Given the description of an element on the screen output the (x, y) to click on. 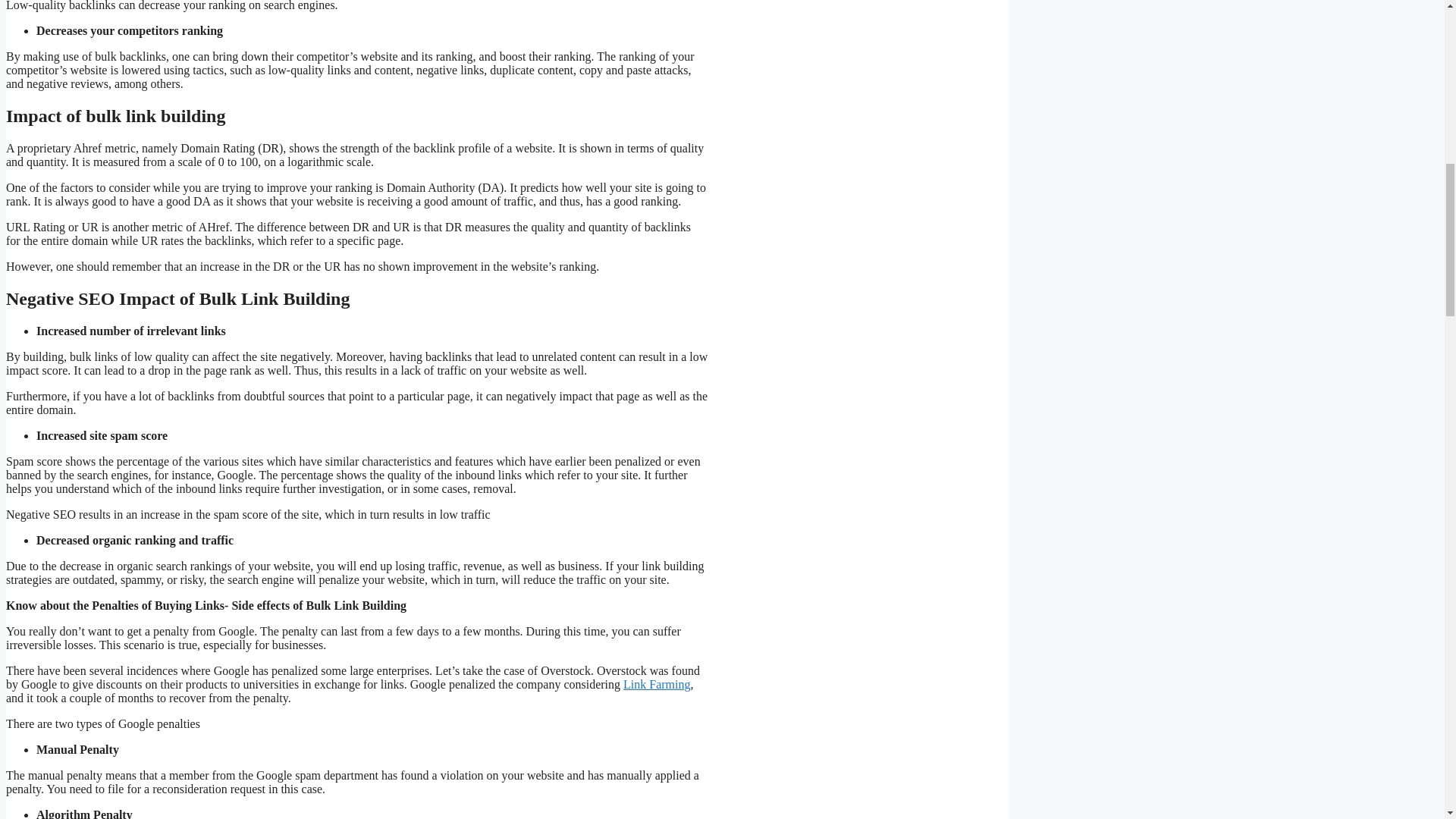
Link Farming (656, 684)
